Given the description of an element on the screen output the (x, y) to click on. 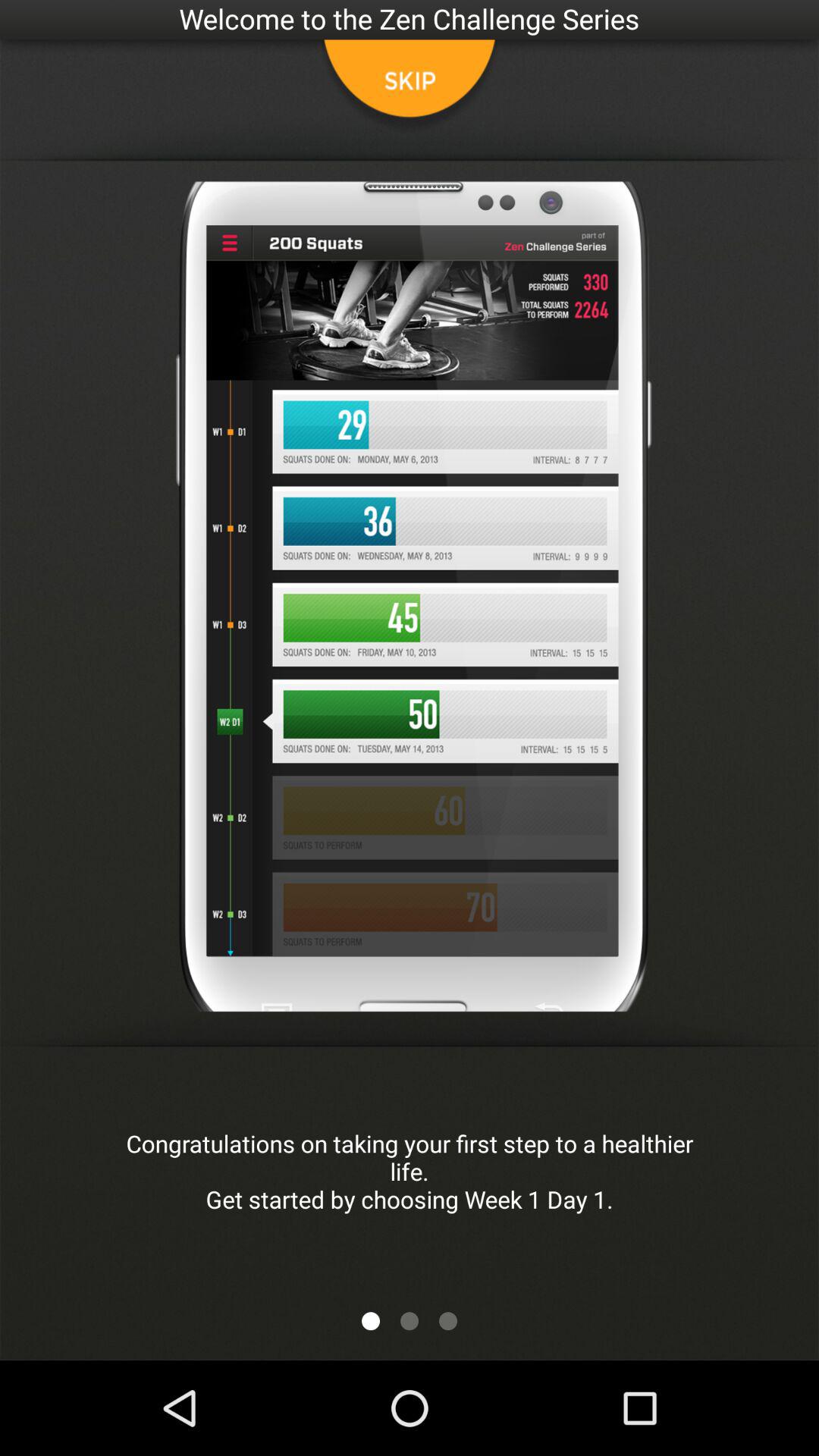
press app below congratulations on taking app (370, 1321)
